Given the description of an element on the screen output the (x, y) to click on. 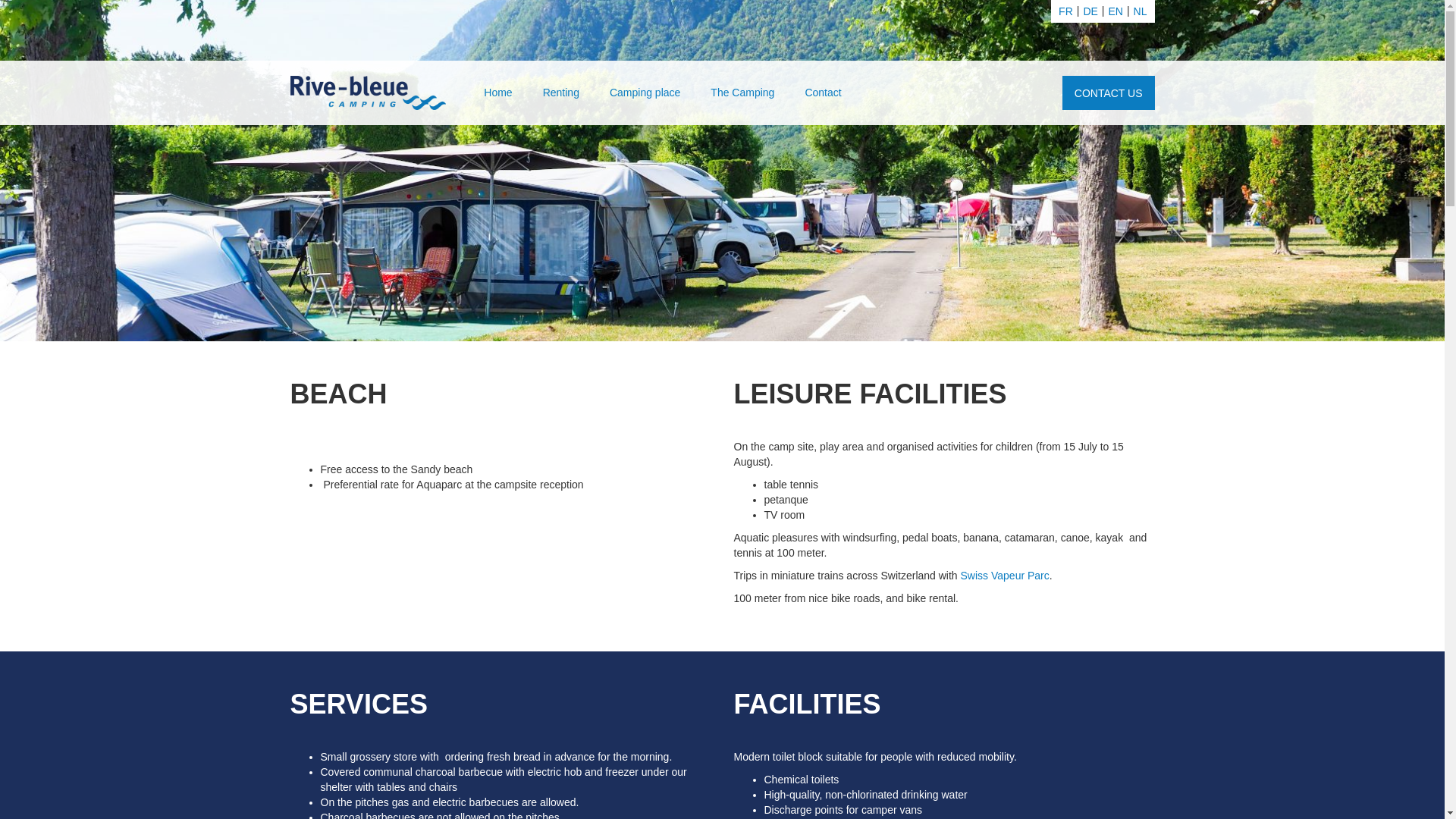
DE Element type: text (1090, 11)
CONTACT US Element type: text (1108, 92)
Swiss Vapeur Parc Element type: text (1004, 575)
NL Element type: text (1140, 11)
EN Element type: text (1115, 11)
The Camping Element type: text (742, 92)
Renting Element type: text (560, 92)
Camping place Element type: text (644, 92)
Home Element type: text (497, 92)
FR Element type: text (1065, 11)
Contact Element type: text (822, 92)
